Given the description of an element on the screen output the (x, y) to click on. 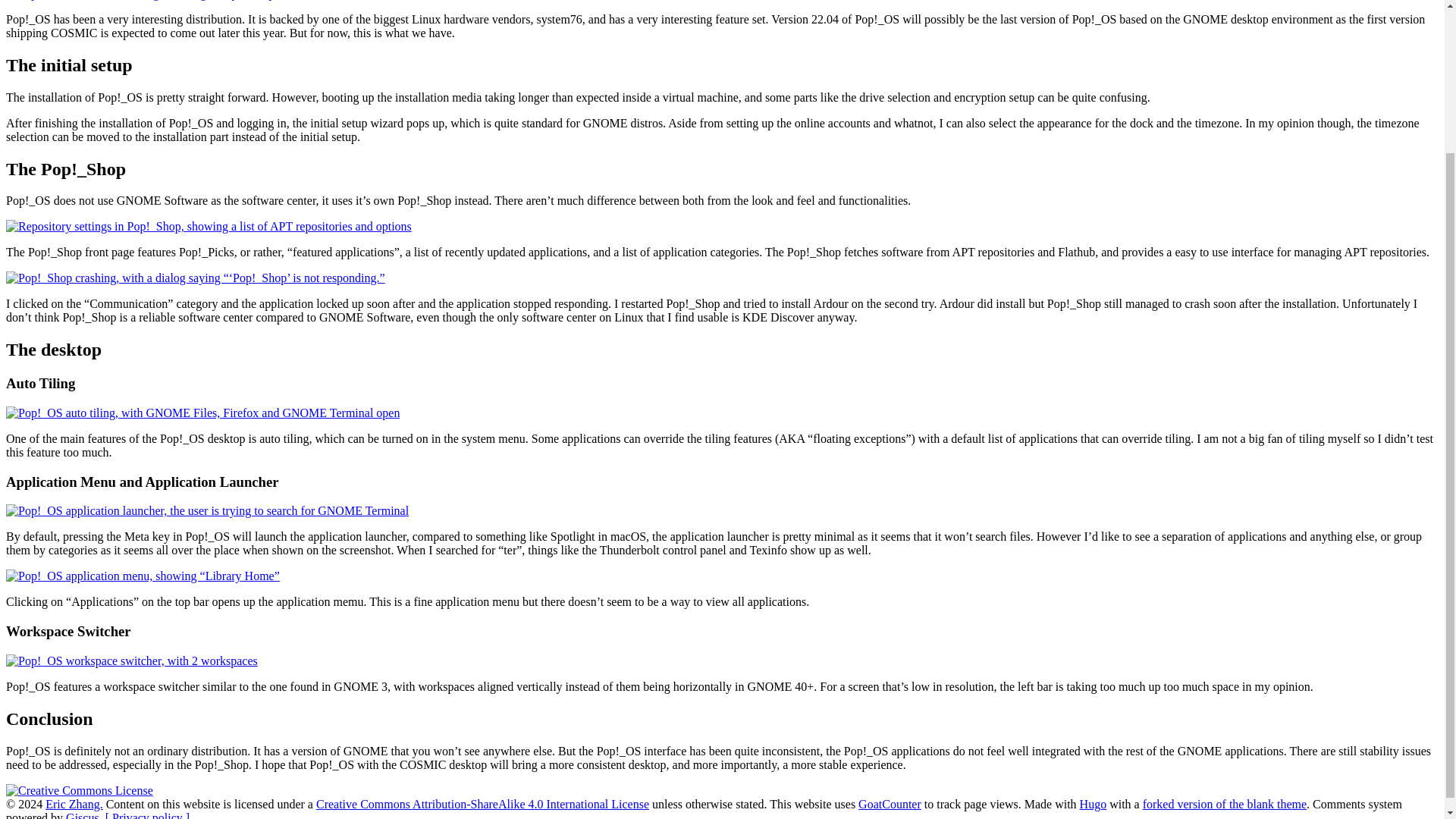
Hugo (1093, 803)
forked version of the blank theme (1224, 803)
Eric Zhang. (74, 803)
GoatCounter (890, 803)
